Given the description of an element on the screen output the (x, y) to click on. 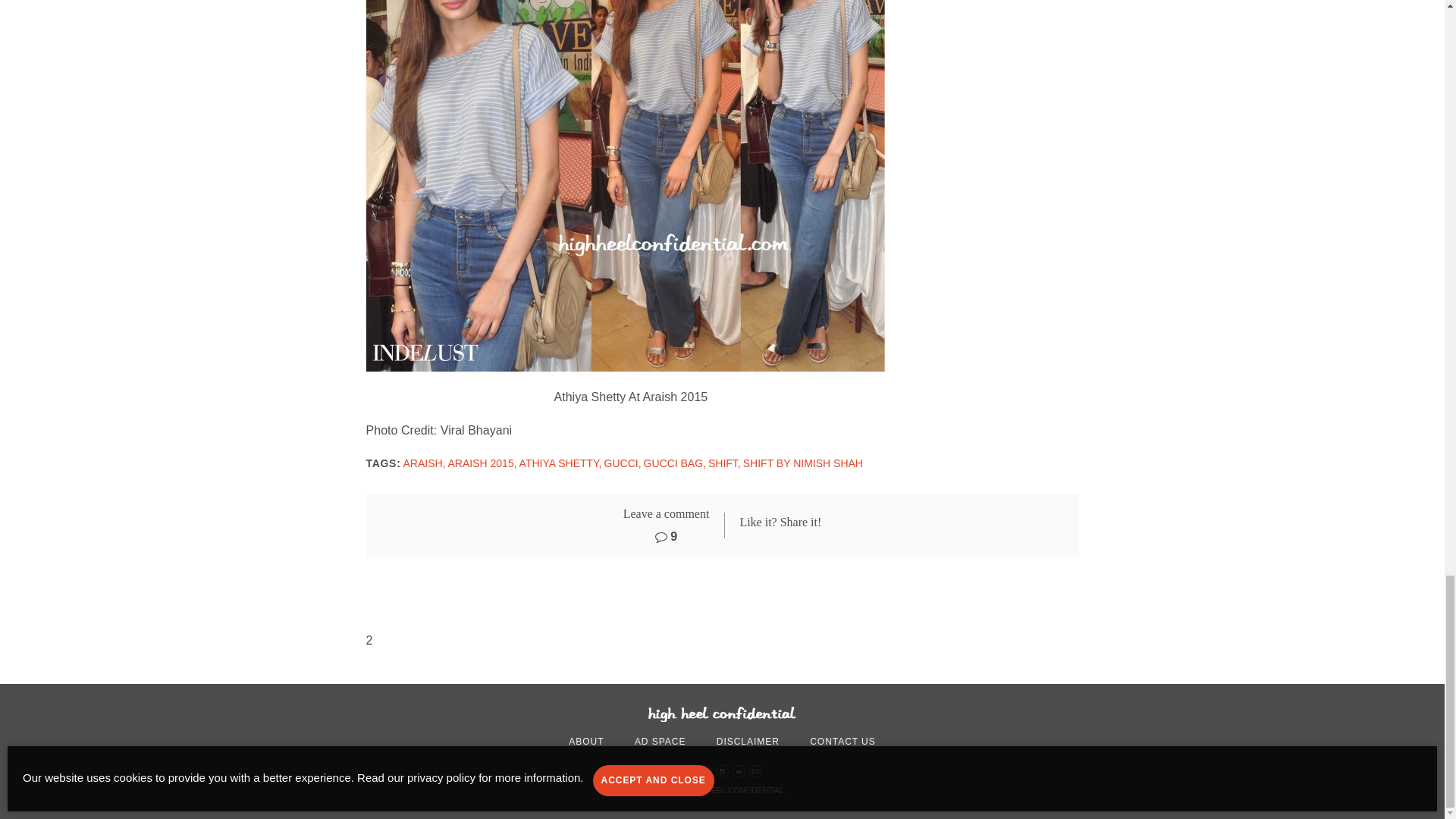
GUCCI BAG, (674, 463)
SHIFT, (724, 463)
ATHIYA SHETTY, (560, 463)
ARAISH, (424, 463)
GUCCI, (623, 463)
ARAISH 2015, (482, 463)
